Given the description of an element on the screen output the (x, y) to click on. 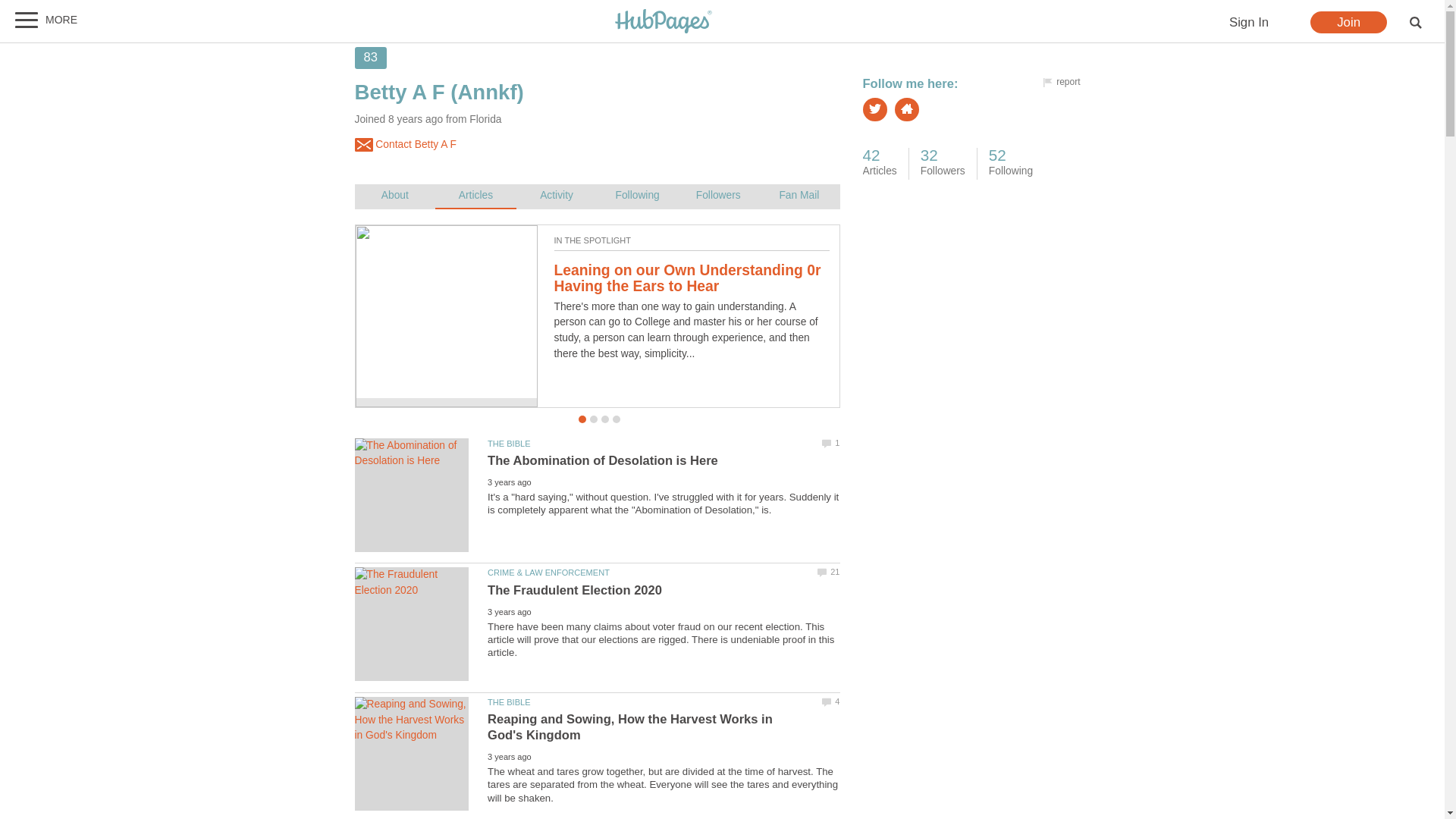
The Fraudulent Election 2020 (411, 582)
The Fraudulent Election 2020 (574, 590)
Annkf on Twitter (874, 109)
Join (1348, 22)
Annkf's Website (906, 109)
THE BIBLE (508, 701)
Hubber Score (371, 57)
HubPages (663, 22)
Leaning on our Own Understanding 0r Having the Ears to Hear (687, 278)
The Abomination of Desolation is Here (411, 453)
HubPages (663, 22)
Reaping and Sowing, How the Harvest Works in God's Kingdom (630, 726)
Sign In (1248, 22)
THE BIBLE (508, 442)
HubPages (663, 21)
